Given the description of an element on the screen output the (x, y) to click on. 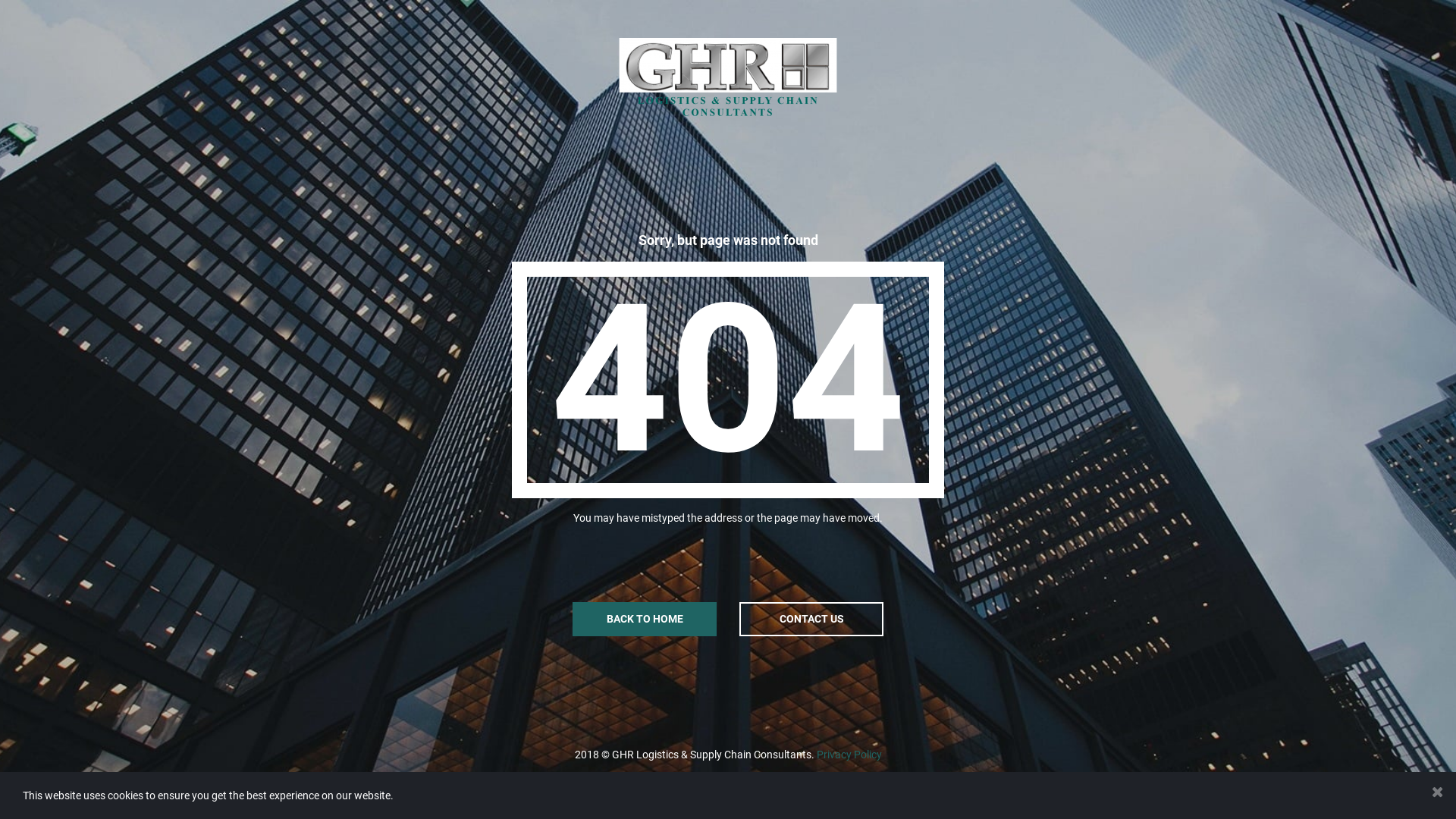
Privacy Policy Element type: text (848, 754)
CONTACT US Element type: text (811, 619)
BACK TO HOME Element type: text (644, 619)
